Given the description of an element on the screen output the (x, y) to click on. 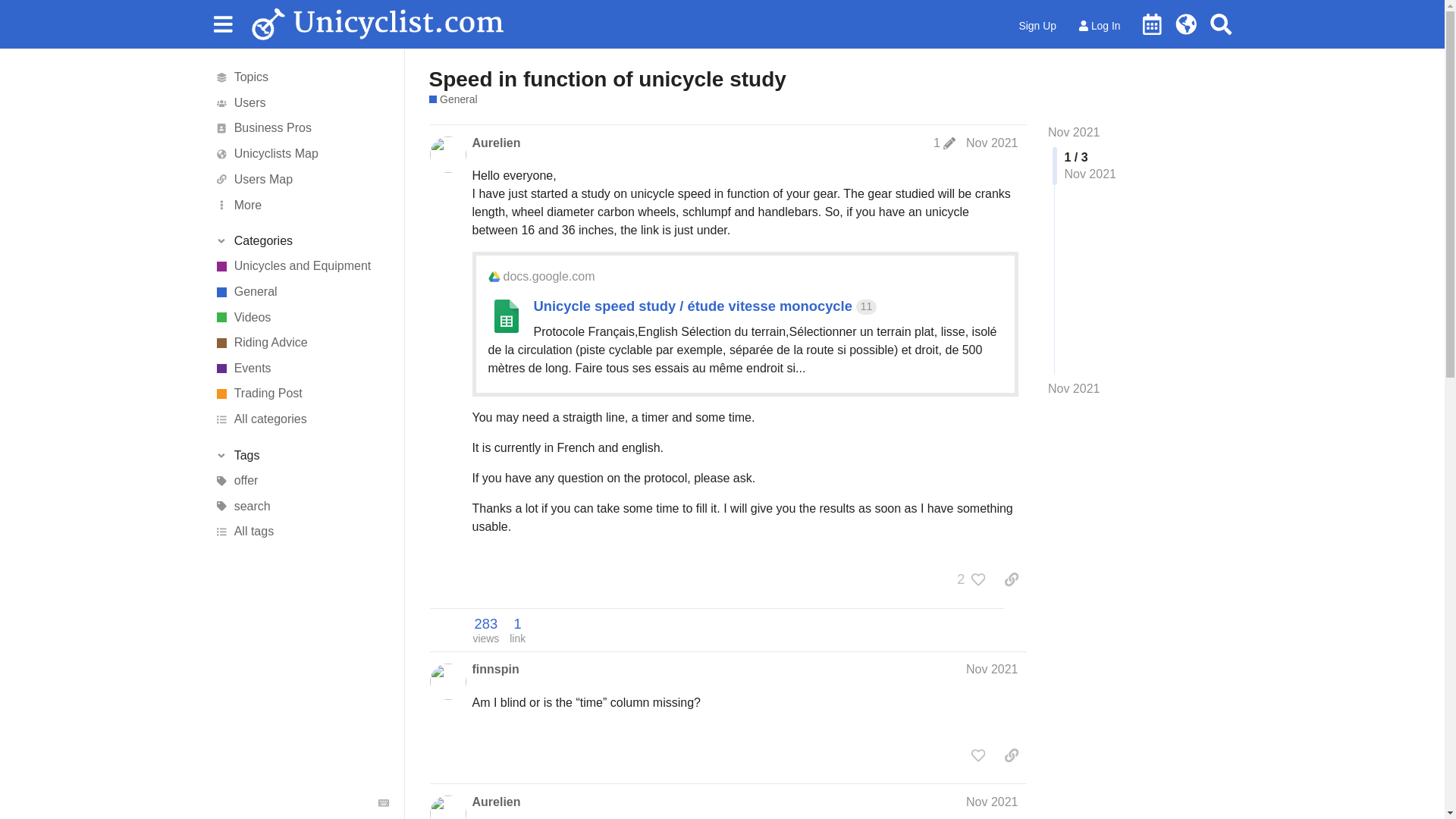
Users Map (301, 179)
Search (1220, 23)
docs.google.com (549, 276)
Sidebar (222, 23)
Trading Post (301, 394)
Videos (301, 317)
search (301, 506)
All categories (301, 419)
1 (943, 142)
All topics (301, 77)
Nov 2021 (1074, 388)
Topics (301, 77)
Unicycles and unicycling equipment for sale or wanted. (301, 394)
offer (301, 481)
Unicycle Calendar (1152, 23)
